Given the description of an element on the screen output the (x, y) to click on. 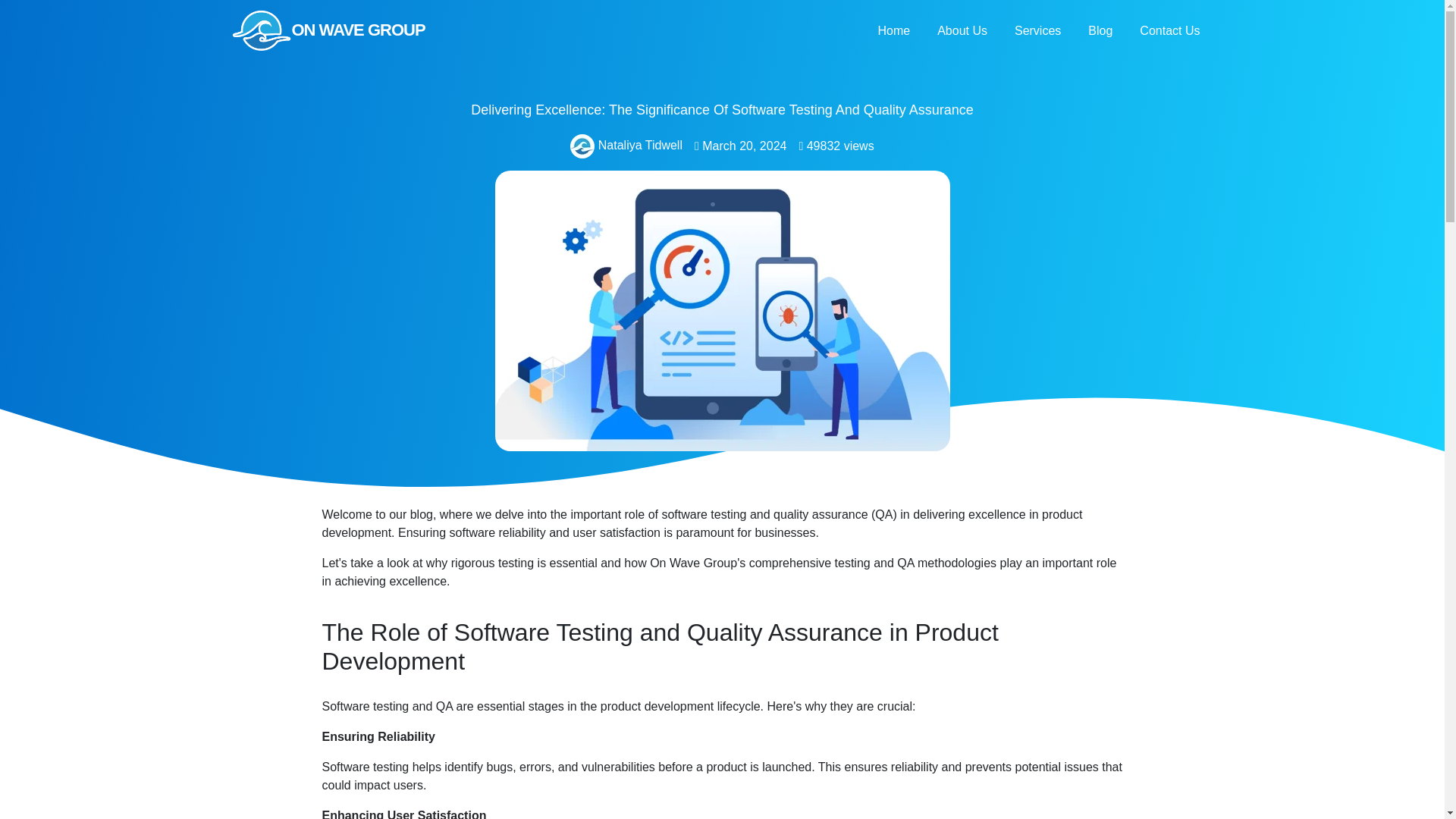
Services (1038, 30)
Blog (1099, 30)
logoonwavegroup32x32 (582, 146)
Contact Us (1169, 30)
Home (892, 30)
About Us (961, 30)
ON WAVE GROUP (353, 30)
